Given the description of an element on the screen output the (x, y) to click on. 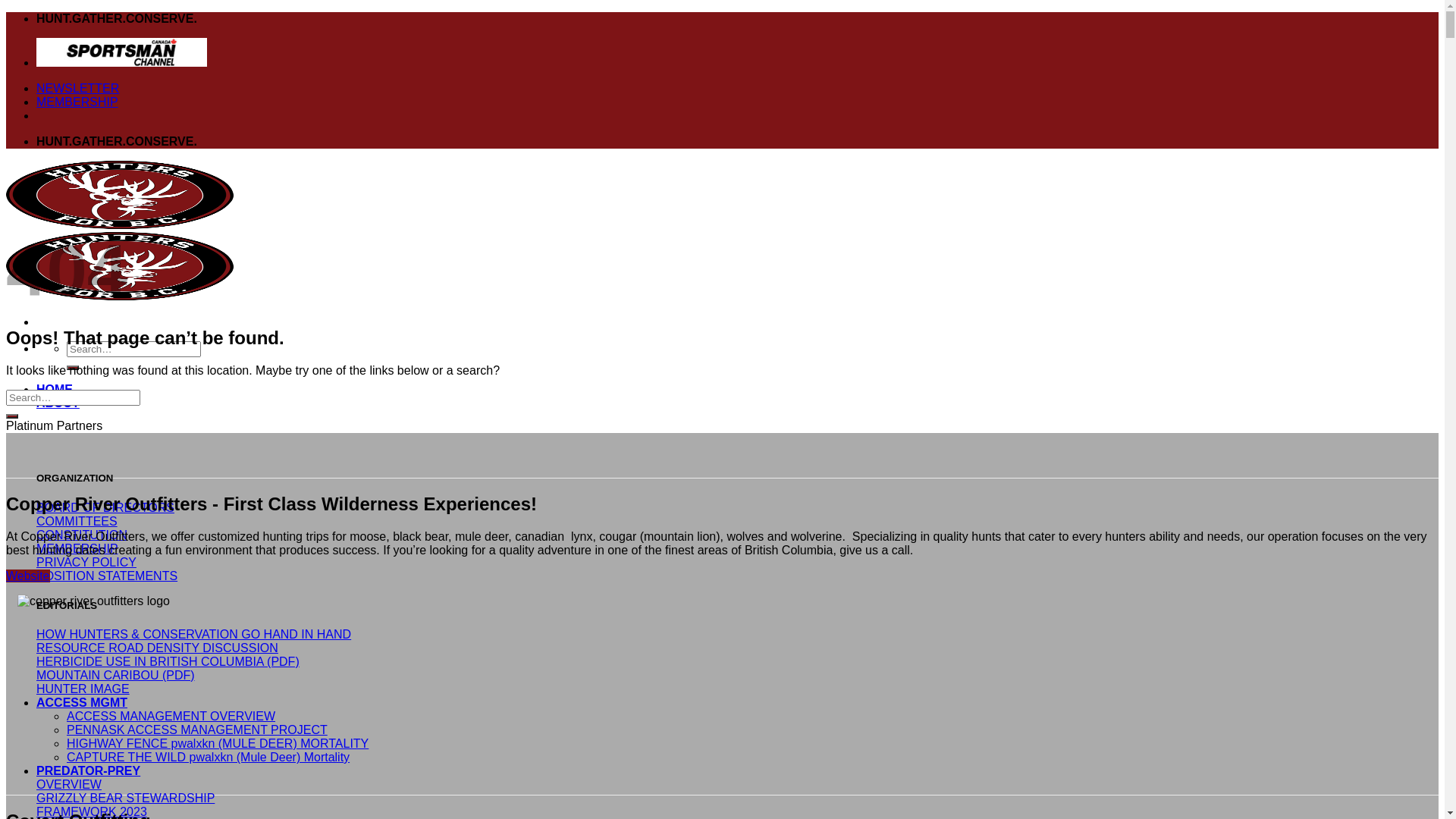
RESOURCE ROAD DENSITY DISCUSSION Element type: text (157, 647)
POSITION STATEMENTS Element type: text (106, 575)
Website Element type: text (28, 575)
Search Element type: text (72, 367)
COMMITTEES Element type: text (76, 520)
CAPTURE THE WILD pwalxkn (Mule Deer) Mortality Element type: text (207, 756)
OVERVIEW Element type: text (68, 784)
PRIVACY POLICY Element type: text (86, 561)
HUNTER IMAGE Element type: text (82, 688)
MOUNTAIN CARIBOU (PDF) Element type: text (115, 674)
HIGHWAY FENCE pwalxkn (MULE DEER) MORTALITY Element type: text (217, 743)
HOW HUNTERS & CONSERVATION GO HAND IN HAND Element type: text (193, 633)
BOARD OF DIRECTORS Element type: text (105, 507)
MEMBERSHIP Element type: text (77, 548)
PREDATOR-PREY Element type: text (88, 770)
Skip to content Element type: text (5, 11)
HERBICIDE USE IN BRITISH COLUMBIA (PDF) Element type: text (167, 661)
MEMBERSHIP Element type: text (77, 101)
HOME Element type: text (54, 388)
ACCESS MGMT Element type: text (81, 702)
ABOUT Element type: text (57, 402)
PENNASK ACCESS MANAGEMENT PROJECT Element type: text (196, 729)
NEWSLETTER Element type: text (77, 87)
ACCESS MANAGEMENT OVERVIEW Element type: text (170, 715)
GRIZZLY BEAR STEWARDSHIP FRAMEWORK 2023 Element type: text (125, 804)
CONSTITUTION Element type: text (81, 534)
